Given the description of an element on the screen output the (x, y) to click on. 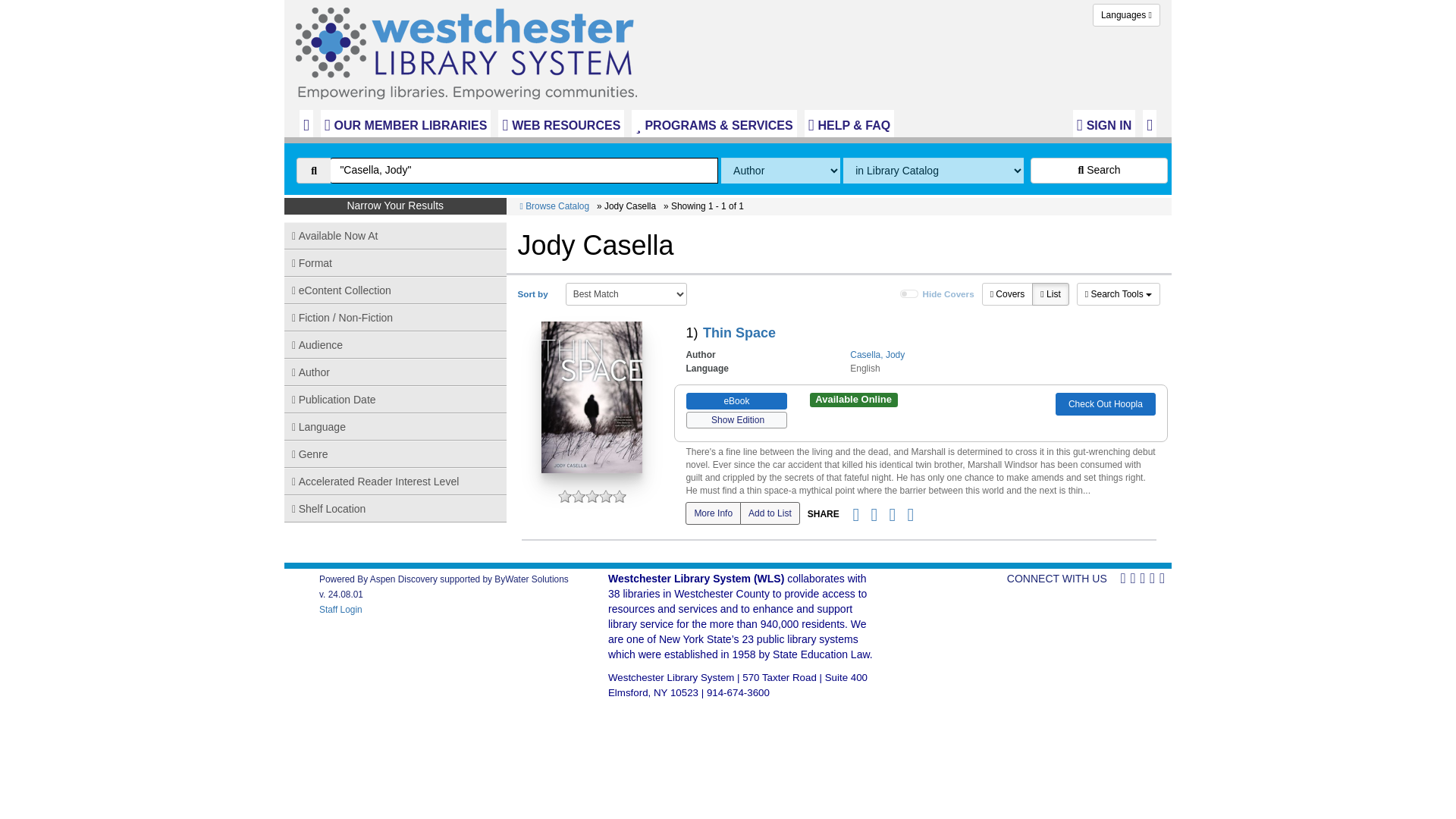
Library Home Page (470, 49)
Languages  (1126, 15)
Login (1104, 123)
on (908, 293)
SIGN IN (1104, 123)
OUR MEMBER LIBRARIES (406, 123)
"Casella, Jody" (523, 170)
WEB RESOURCES (560, 123)
 Search (1098, 170)
